Given the description of an element on the screen output the (x, y) to click on. 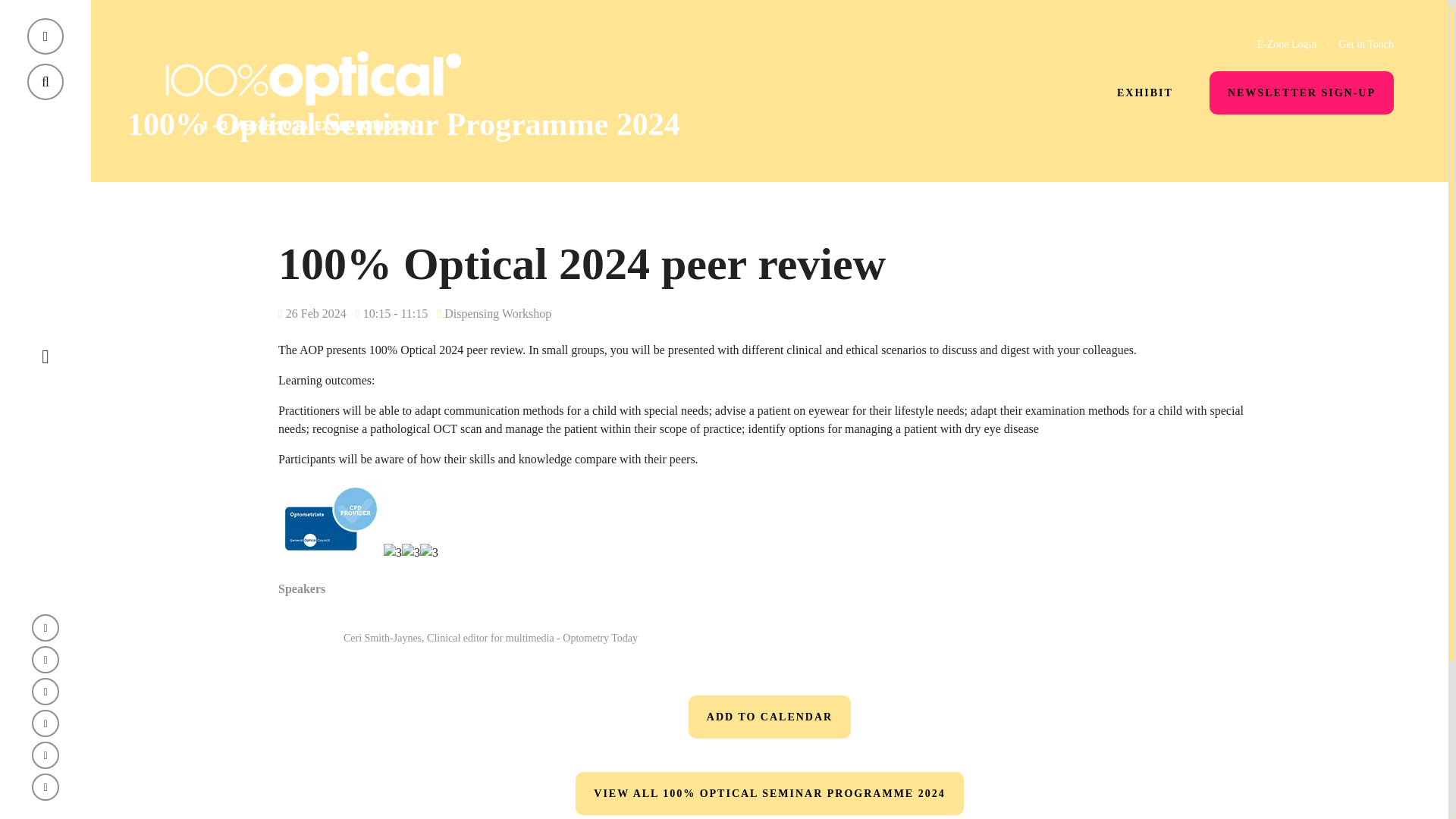
Facebook (45, 659)
YouTube (45, 755)
LinkedIn (45, 786)
Twitter (45, 627)
Instagram (45, 691)
TikTok (45, 723)
